Given the description of an element on the screen output the (x, y) to click on. 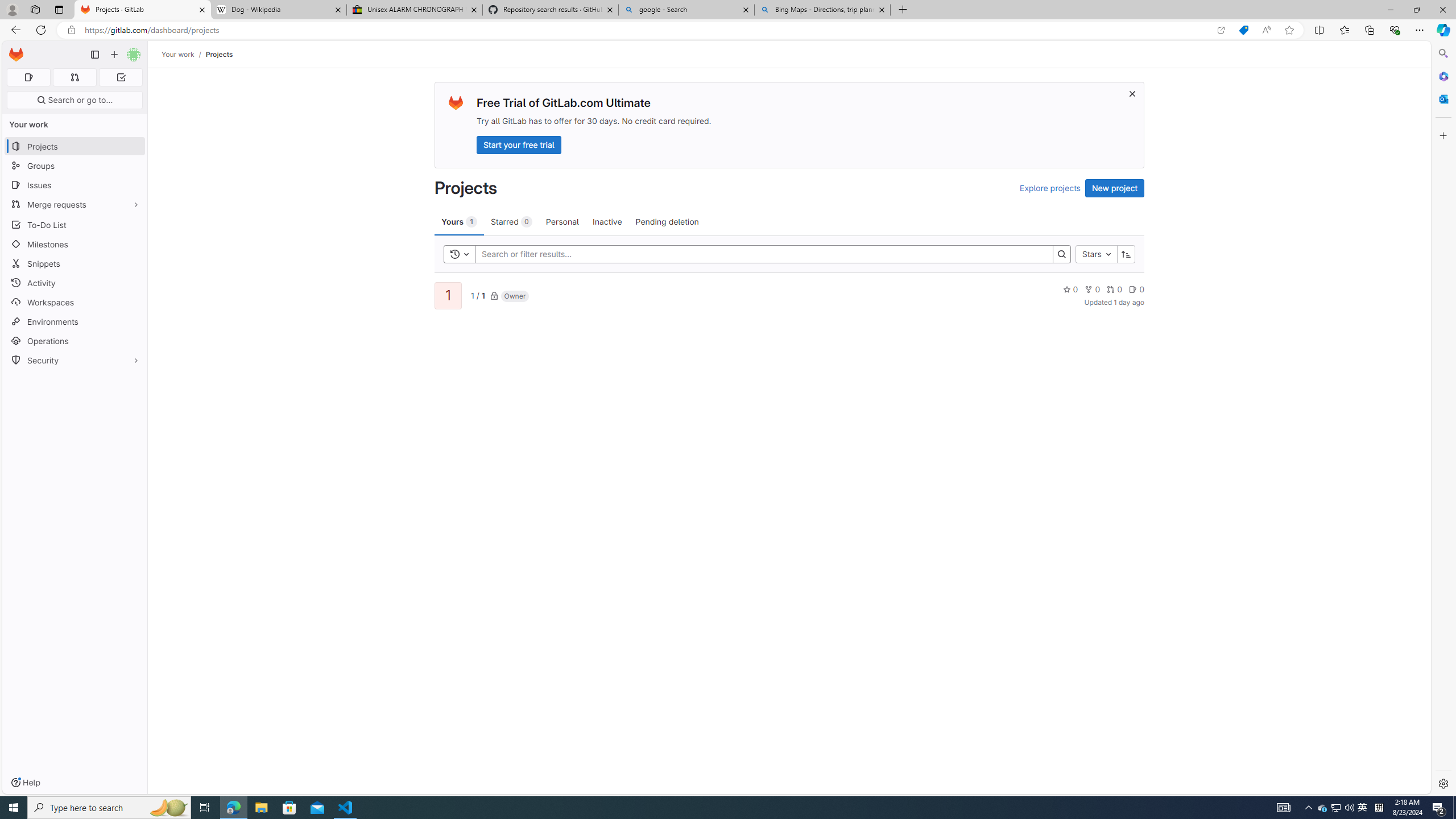
Merge requests (74, 203)
Starred 0 (510, 221)
11 / 1Owner0000Updated 1 day ago (788, 295)
Personal (561, 221)
